Given the description of an element on the screen output the (x, y) to click on. 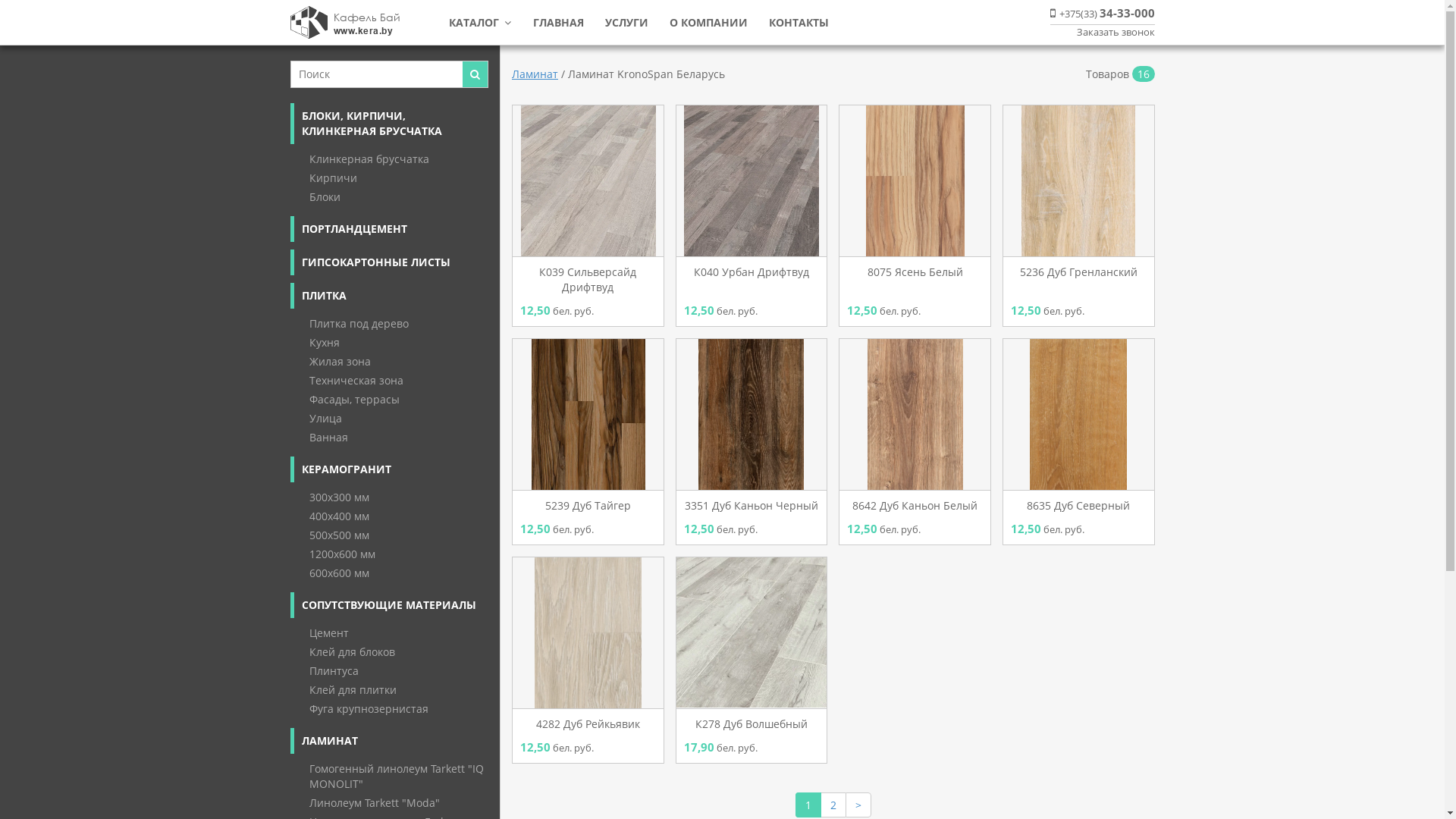
> Element type: text (858, 804)
1 Element type: text (808, 804)
2 Element type: text (833, 804)
